Given the description of an element on the screen output the (x, y) to click on. 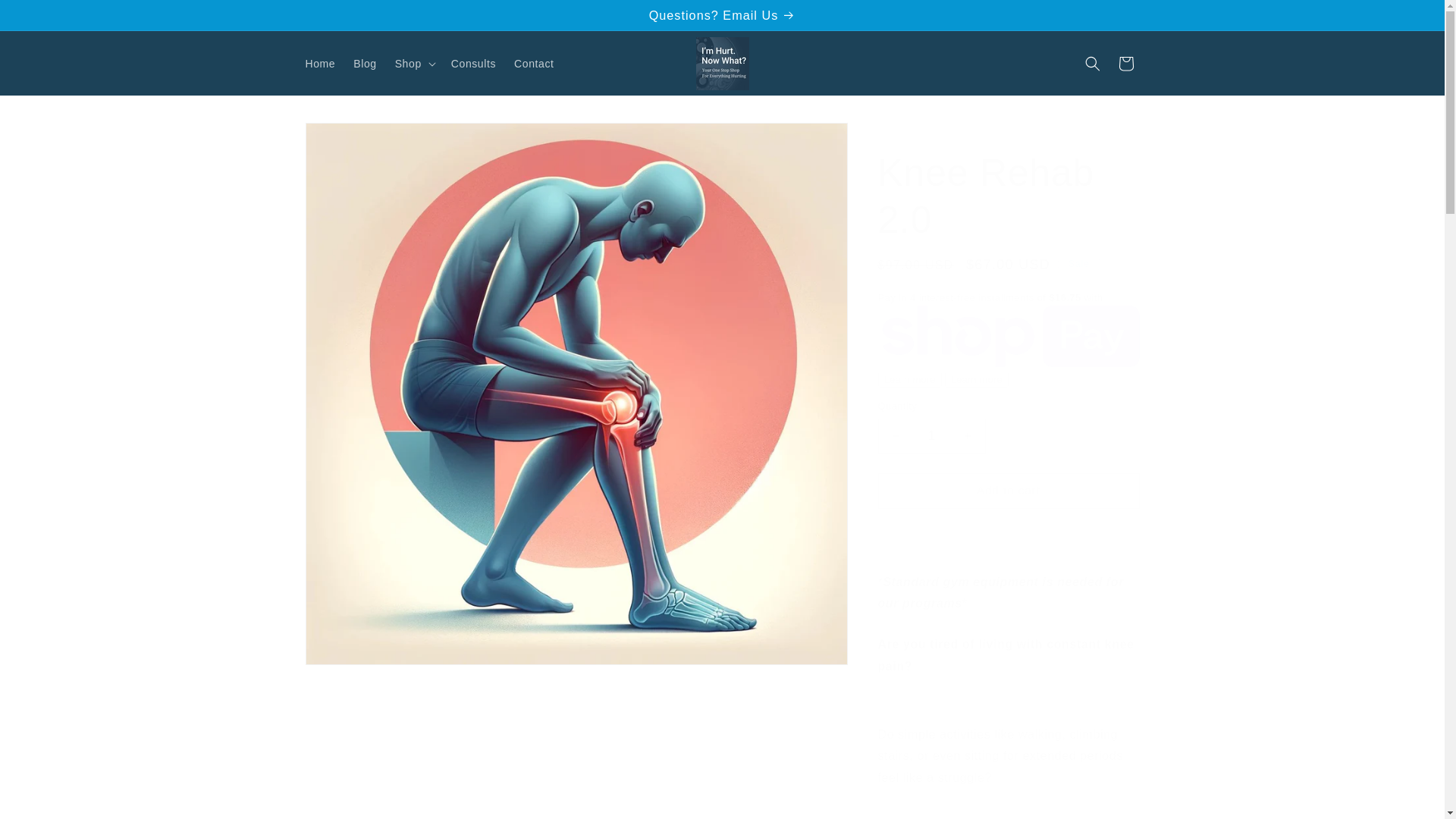
Questions? Email Us (721, 15)
Contact (533, 63)
Add to cart (1008, 490)
Skip to product information (350, 140)
Decrease quantity for Knee Rehab 2.0 (894, 436)
Cart (1124, 63)
Skip to content (45, 17)
Consults (473, 63)
Home (319, 63)
1 (931, 436)
Increase quantity for Knee Rehab 2.0 (967, 436)
Blog (364, 63)
